Given the description of an element on the screen output the (x, y) to click on. 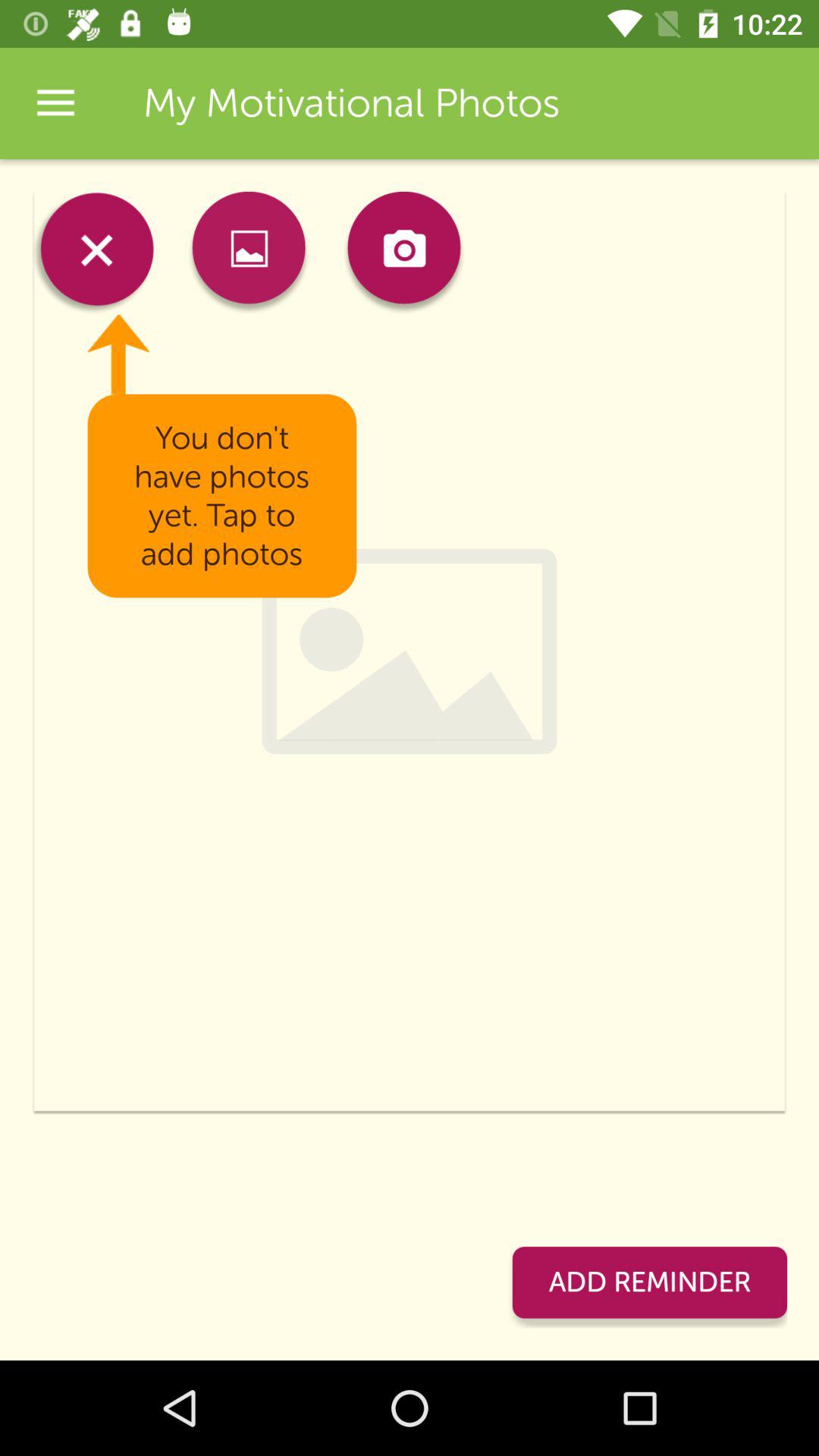
select the item at the bottom right corner (649, 1282)
